Given the description of an element on the screen output the (x, y) to click on. 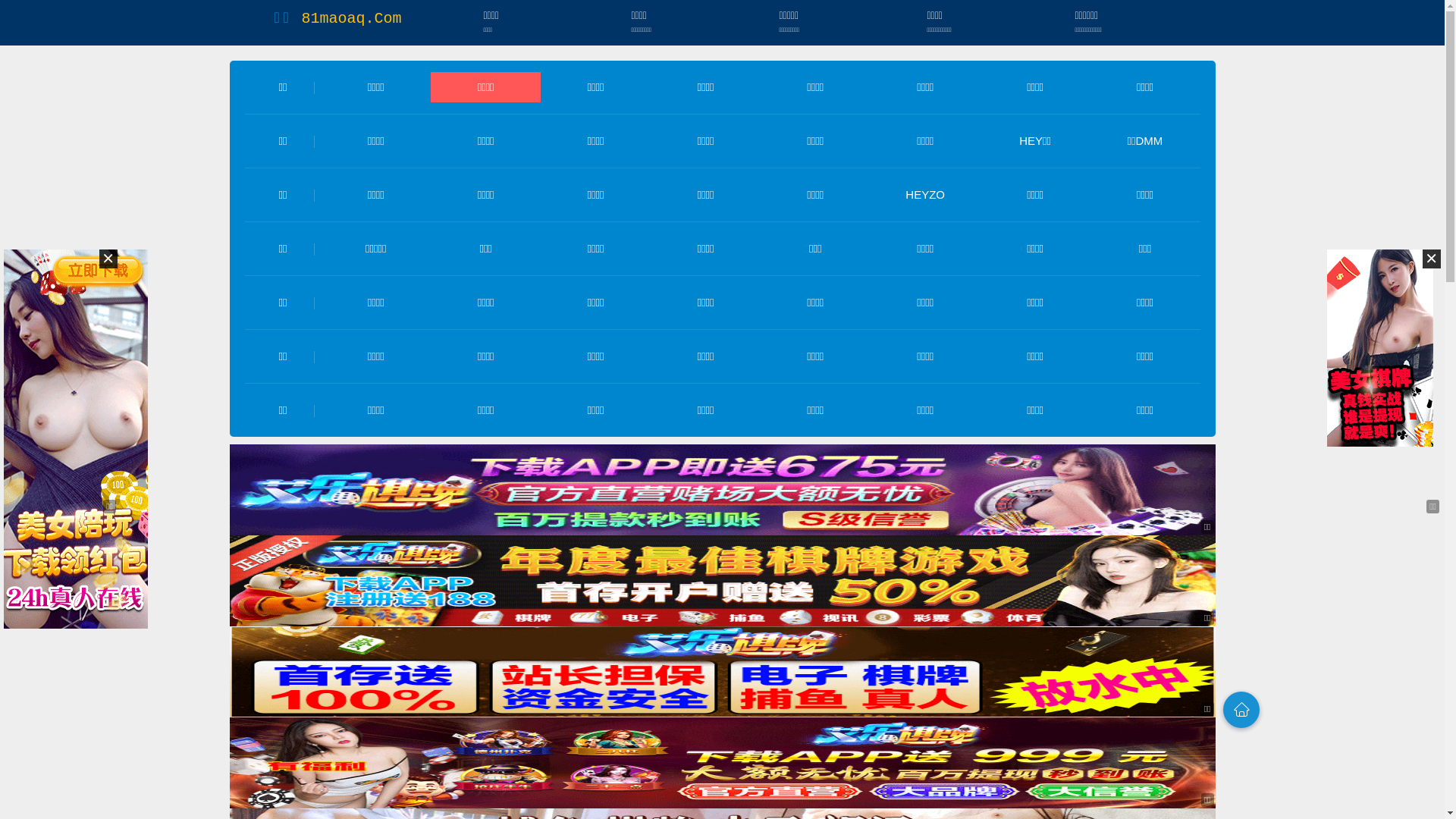
81maoaq.Com Element type: text (351, 18)
HEYZO Element type: text (924, 194)
